Given the description of an element on the screen output the (x, y) to click on. 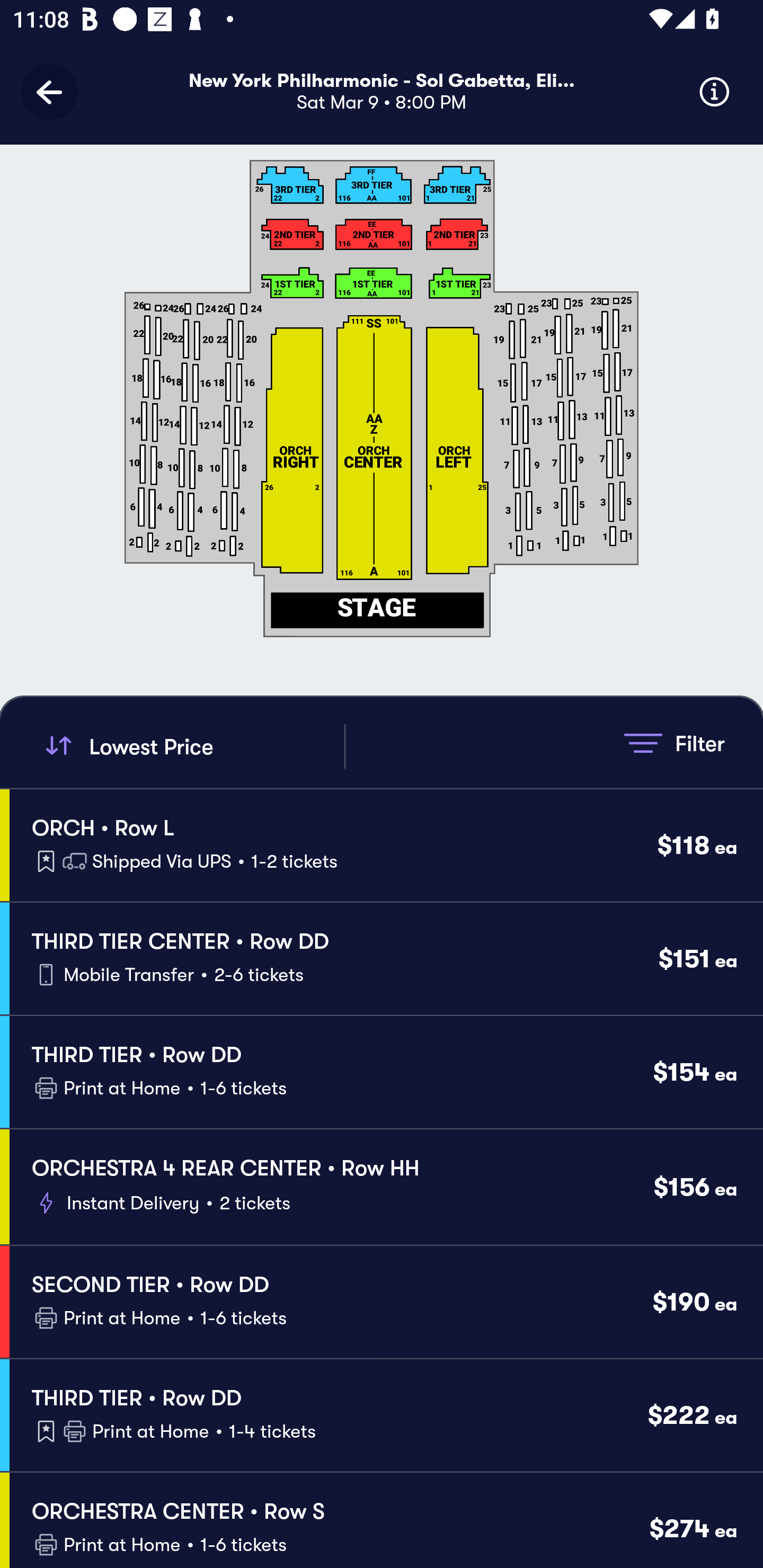
Lowest Price (191, 746)
Filter (674, 743)
ORCH • Row L Shipped Via UPS • 1-2 tickets $118 ea (386, 844)
